Given the description of an element on the screen output the (x, y) to click on. 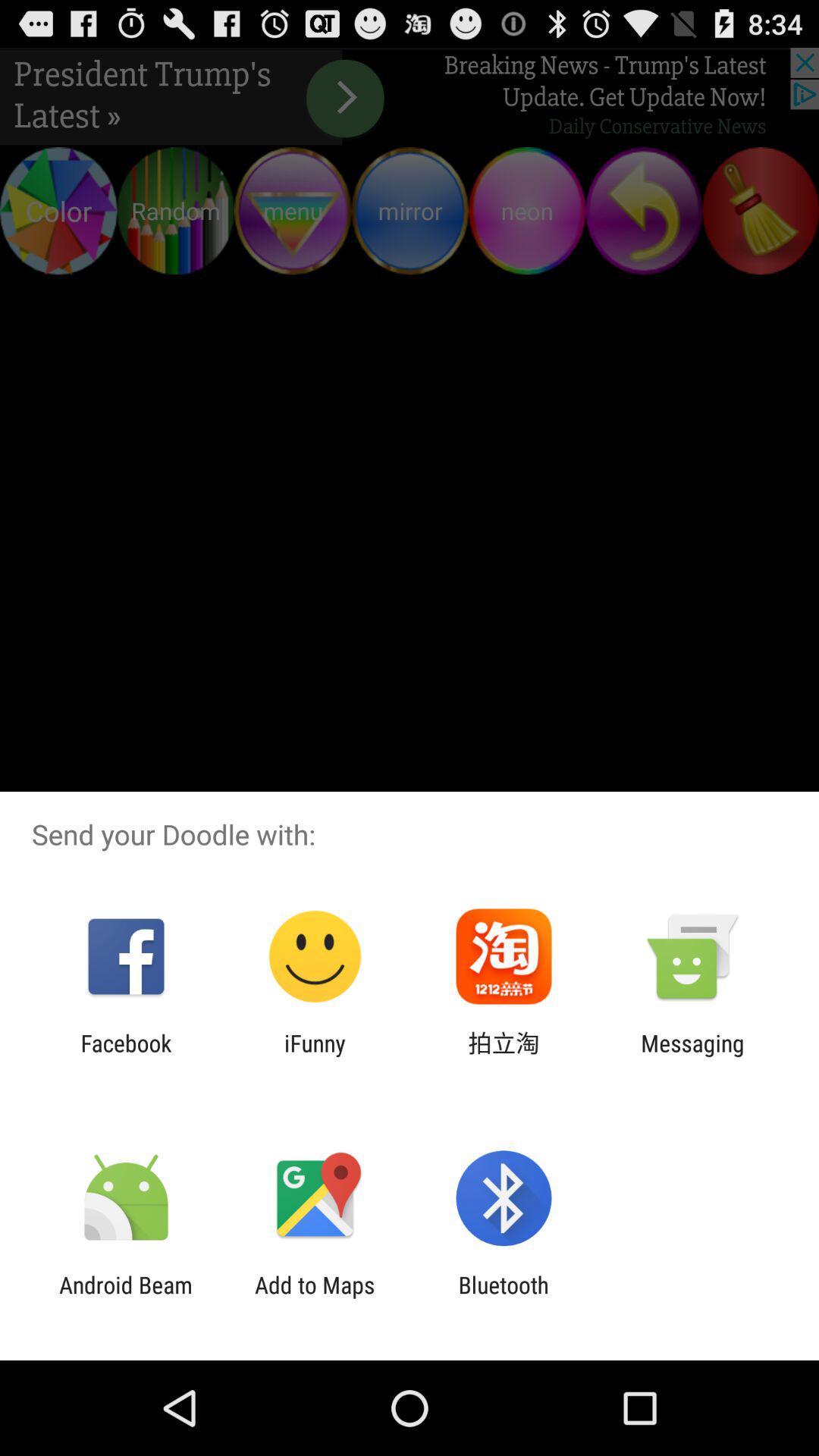
click the messaging at the bottom right corner (692, 1056)
